Given the description of an element on the screen output the (x, y) to click on. 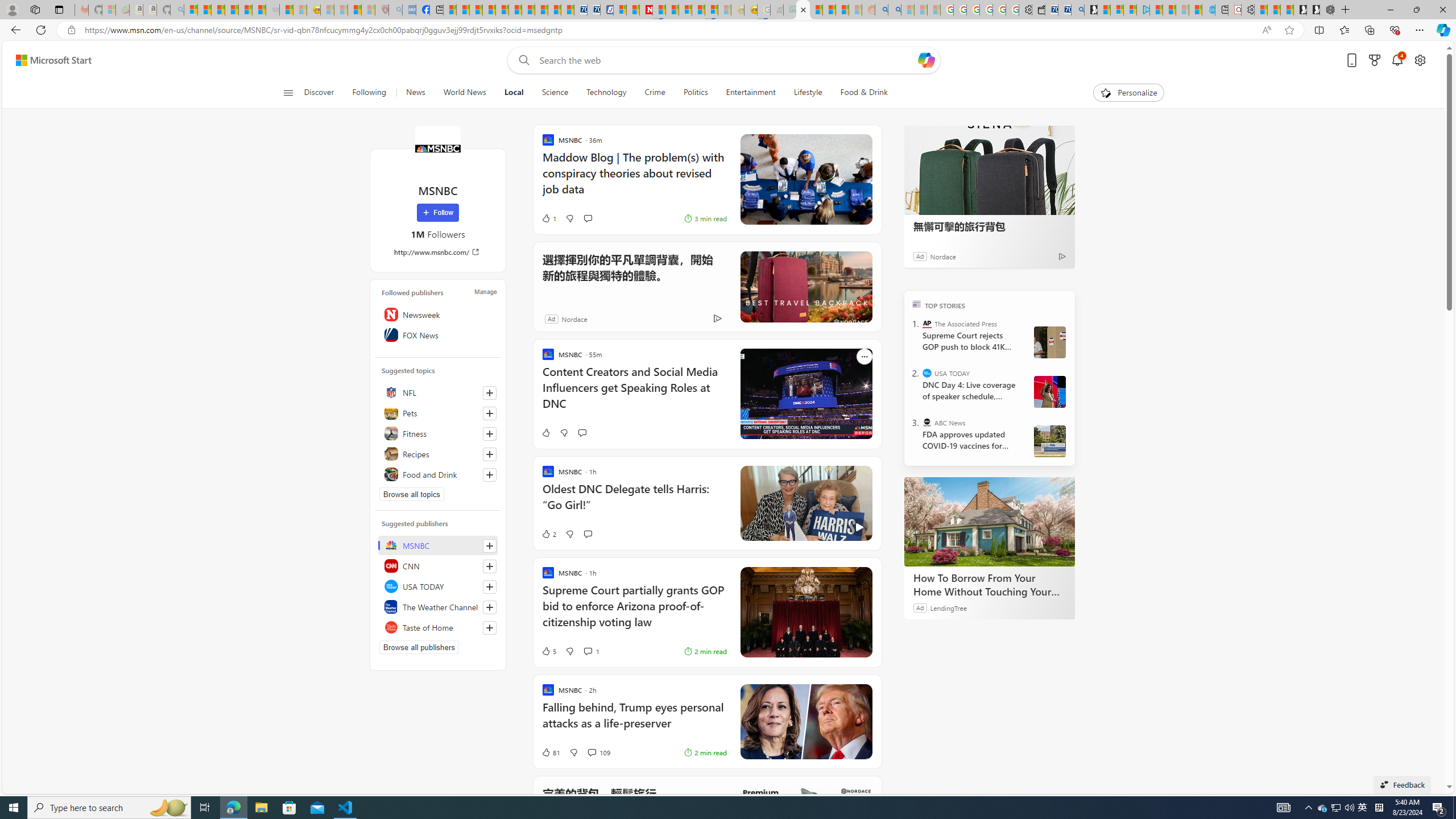
Taste of Home (437, 627)
Browse all publishers (419, 647)
